Given the description of an element on the screen output the (x, y) to click on. 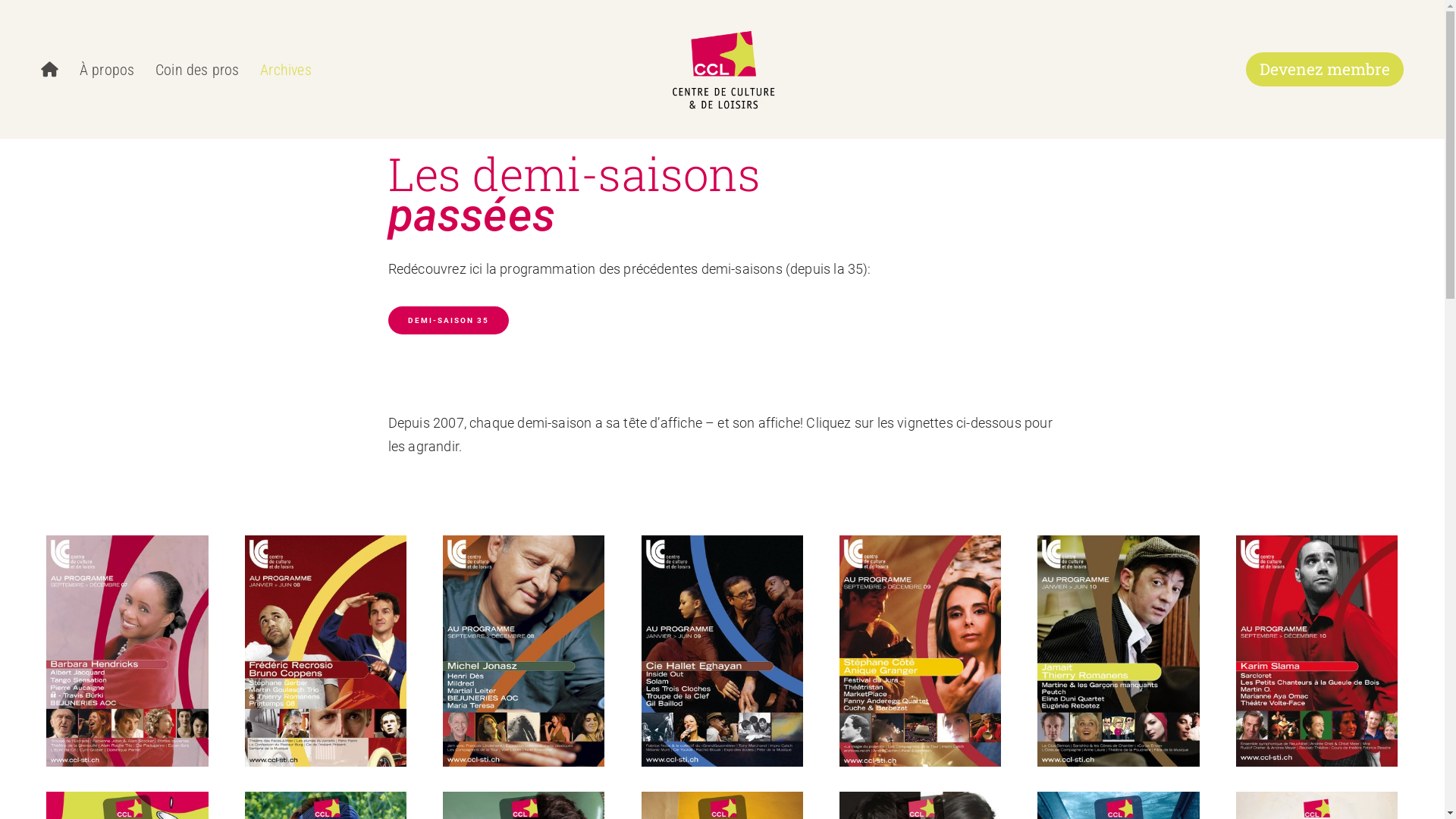
DEMI-SAISON 35 Element type: text (448, 320)
Archives Element type: text (285, 69)
Coin des pros Element type: text (197, 69)
Devenez membre Element type: text (1324, 69)
